Given the description of an element on the screen output the (x, y) to click on. 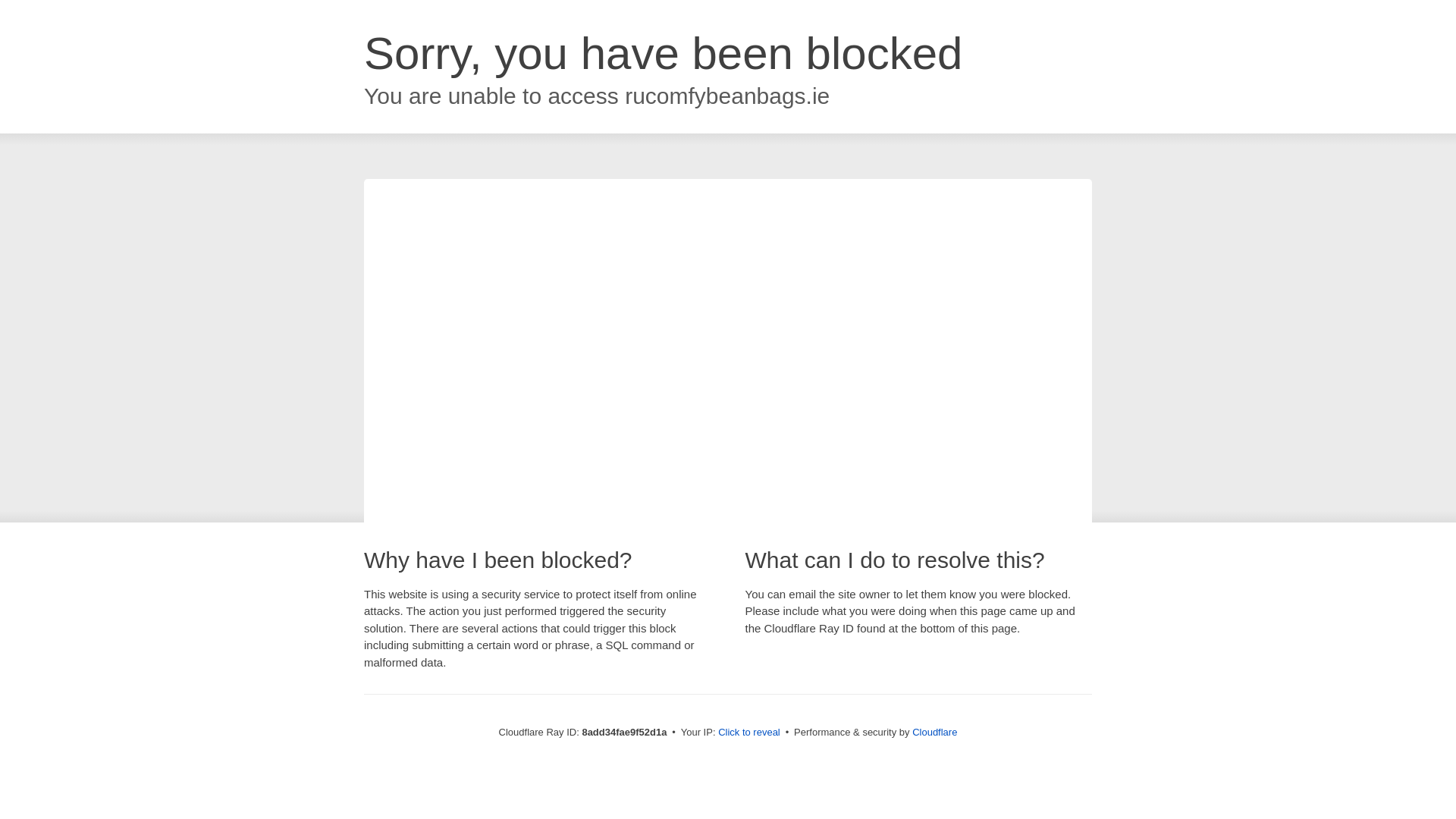
Click to reveal (748, 732)
Cloudflare (934, 731)
